Given the description of an element on the screen output the (x, y) to click on. 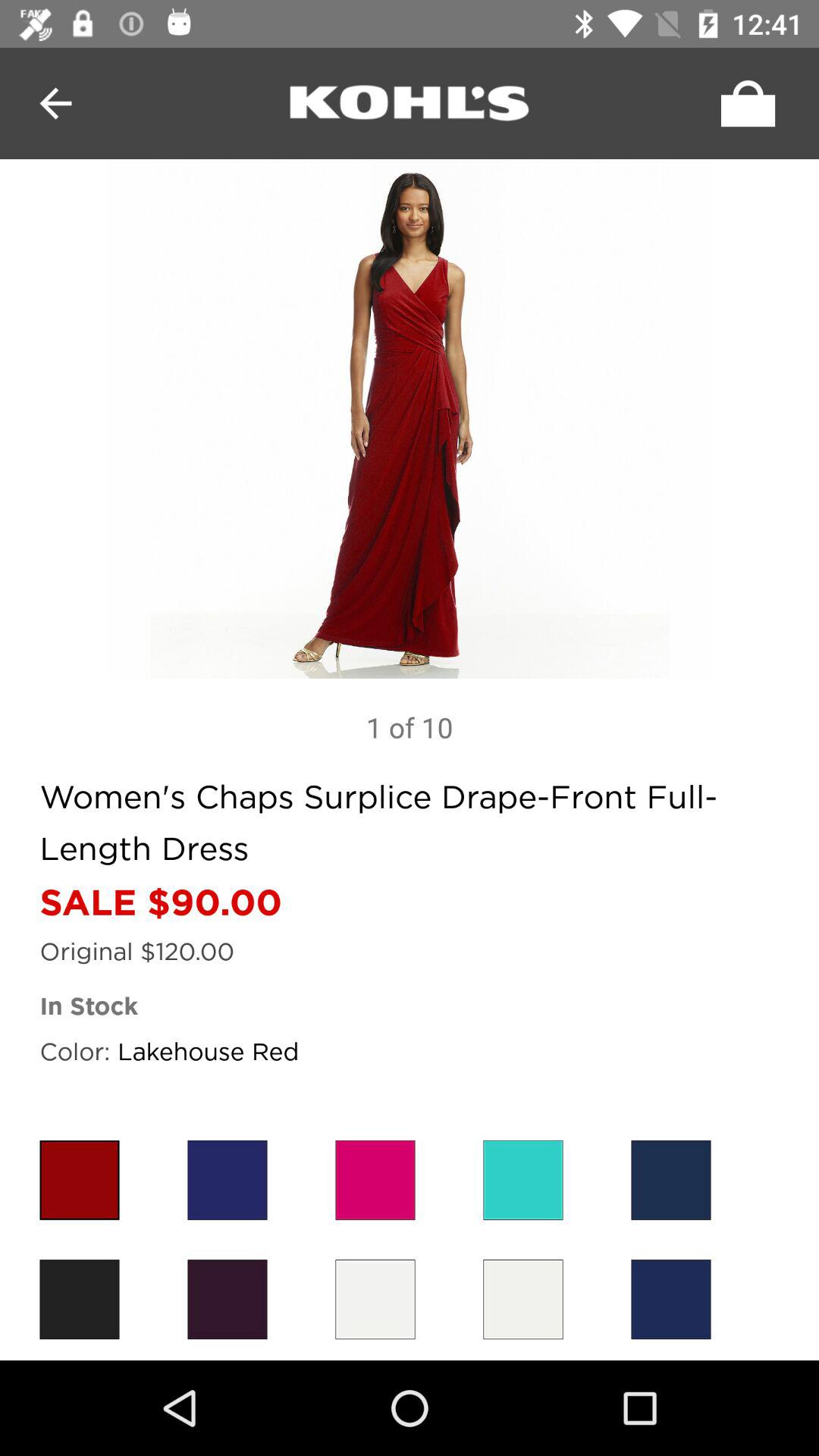
go to colour choose (670, 1179)
